Given the description of an element on the screen output the (x, y) to click on. 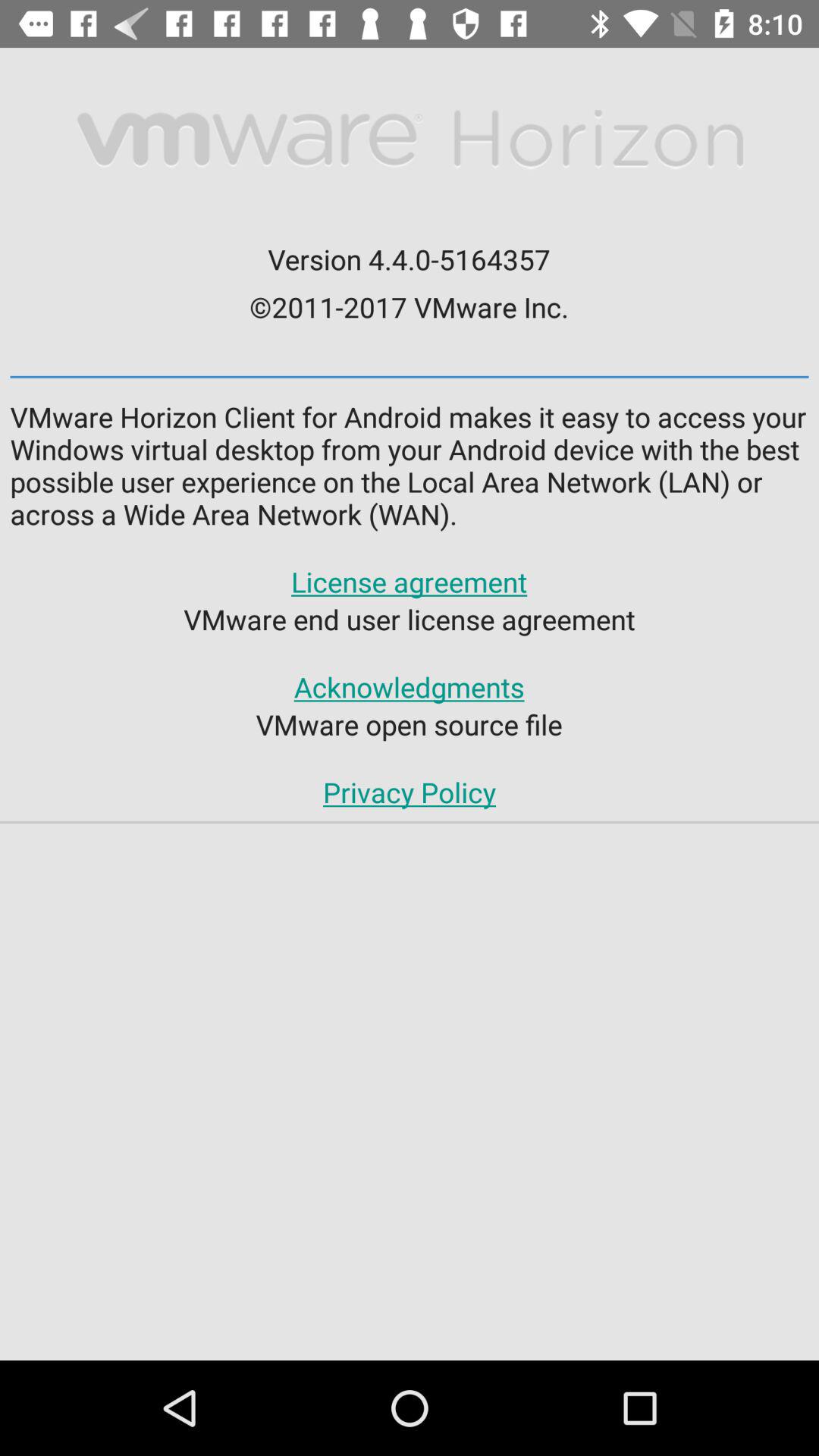
open app above 2011 2017 vmware icon (408, 259)
